Given the description of an element on the screen output the (x, y) to click on. 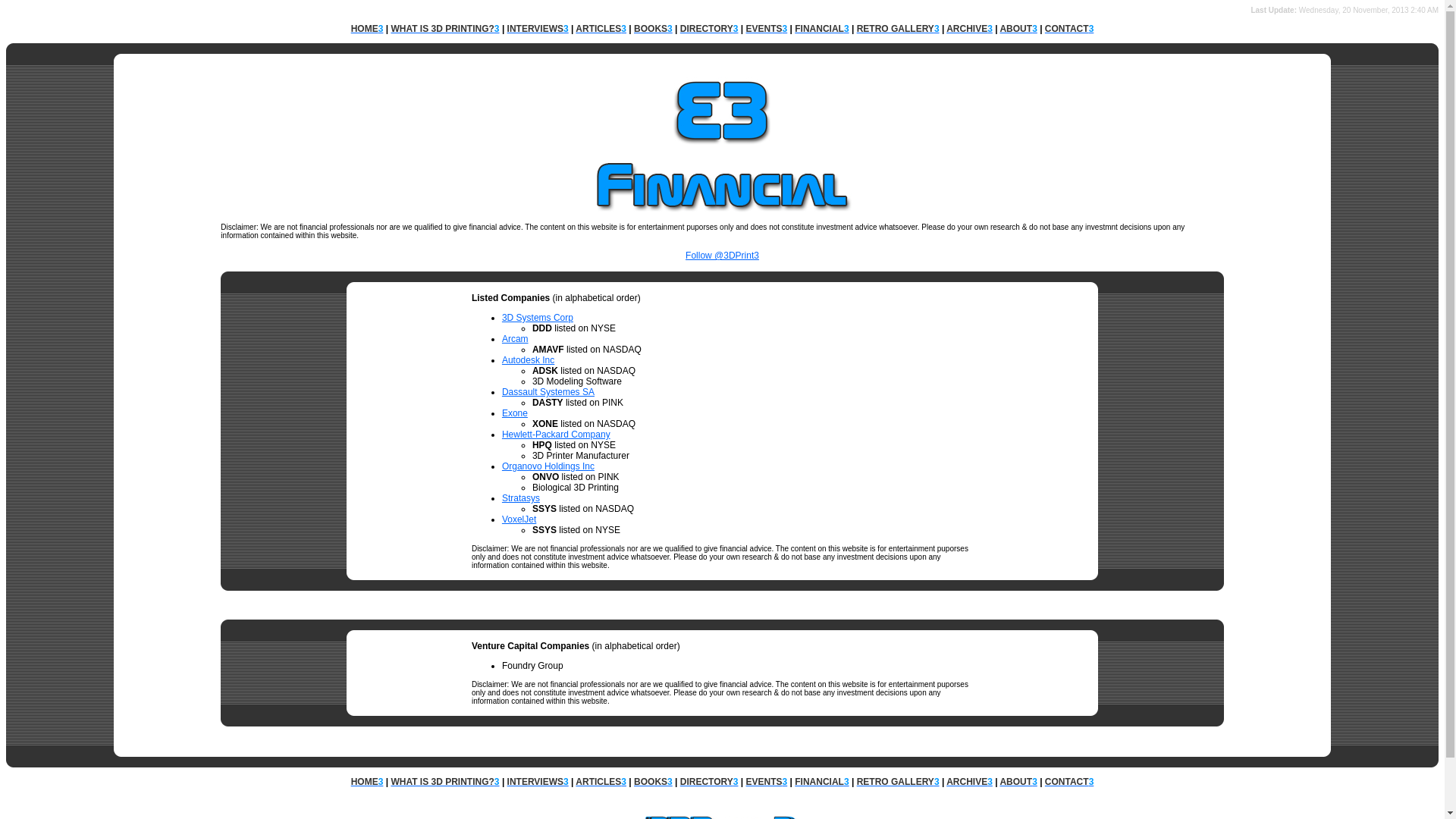
Arcam Element type: text (515, 338)
BOOKS3 Element type: text (652, 781)
RETRO GALLERY3 Element type: text (897, 28)
Dassault Systemes SA Element type: text (548, 391)
BOOKS3 Element type: text (652, 28)
ARCHIVE3 Element type: text (969, 781)
INTERVIEWS3 Element type: text (537, 28)
ARTICLES3 Element type: text (600, 781)
CONTACT3 Element type: text (1068, 28)
Stratasys Element type: text (520, 497)
DIRECTORY3 Element type: text (709, 28)
DIRECTORY3 Element type: text (709, 781)
WHAT IS 3D PRINTING?3 Element type: text (444, 28)
Exone Element type: text (514, 412)
HOME3 Element type: text (367, 781)
HOME3 Element type: text (367, 28)
Hewlett-Packard Company Element type: text (556, 434)
Follow @3DPrint3 Element type: text (722, 260)
ABOUT3 Element type: text (1017, 28)
Organovo Holdings Inc Element type: text (548, 466)
EVENTS3 Element type: text (766, 781)
EVENTS3 Element type: text (766, 28)
VoxelJet Element type: text (519, 519)
INTERVIEWS3 Element type: text (537, 781)
ARTICLES3 Element type: text (600, 28)
ABOUT3 Element type: text (1017, 781)
WHAT IS 3D PRINTING?3 Element type: text (444, 781)
ARCHIVE3 Element type: text (969, 28)
Autodesk Inc Element type: text (528, 359)
CONTACT3 Element type: text (1068, 781)
FINANCIAL3 Element type: text (821, 28)
FINANCIAL3 Element type: text (821, 781)
RETRO GALLERY3 Element type: text (897, 781)
3D Systems Corp Element type: text (537, 317)
